Given the description of an element on the screen output the (x, y) to click on. 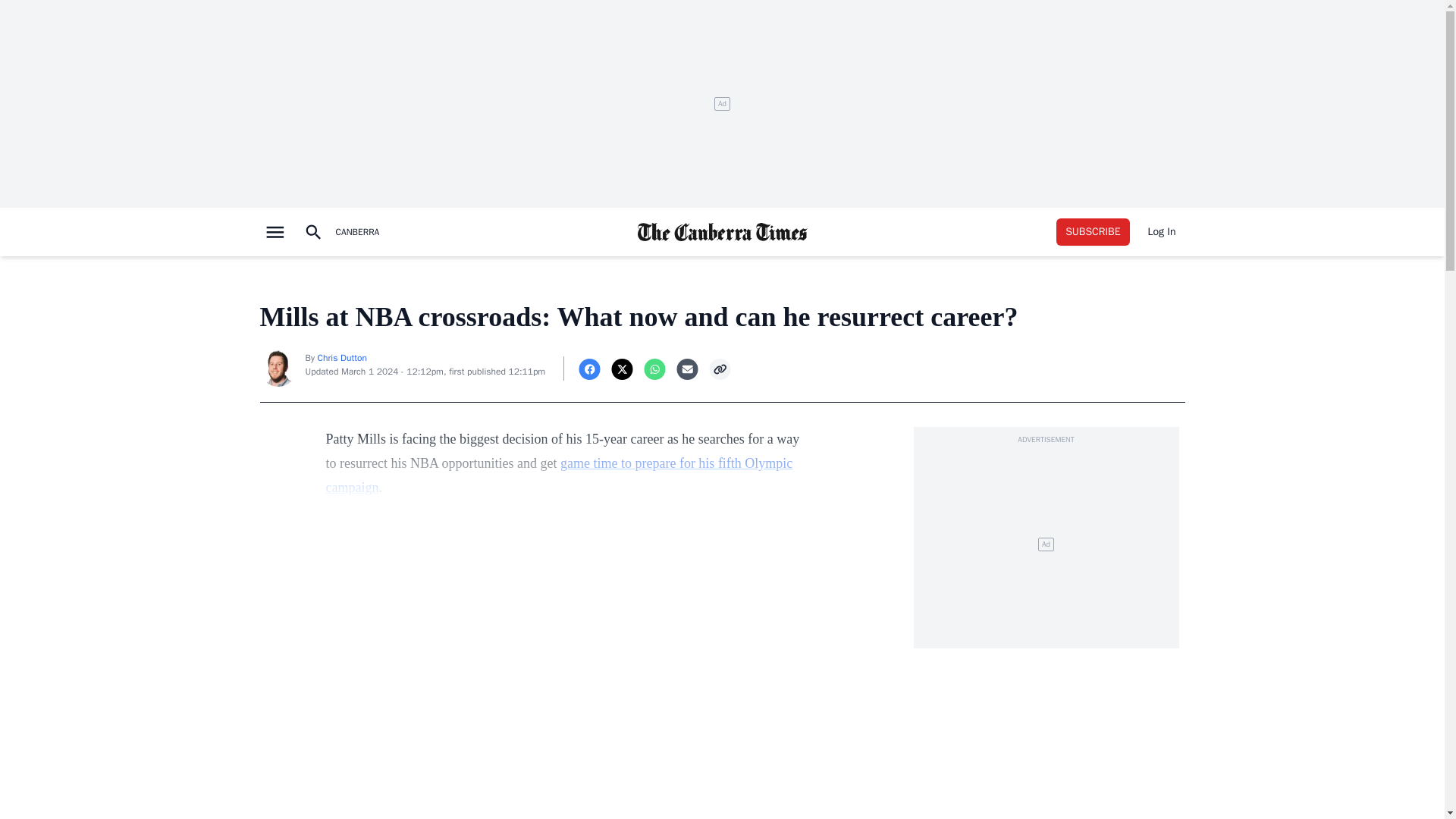
CANBERRA (357, 232)
SUBSCRIBE (1093, 231)
Log In (1161, 231)
